Given the description of an element on the screen output the (x, y) to click on. 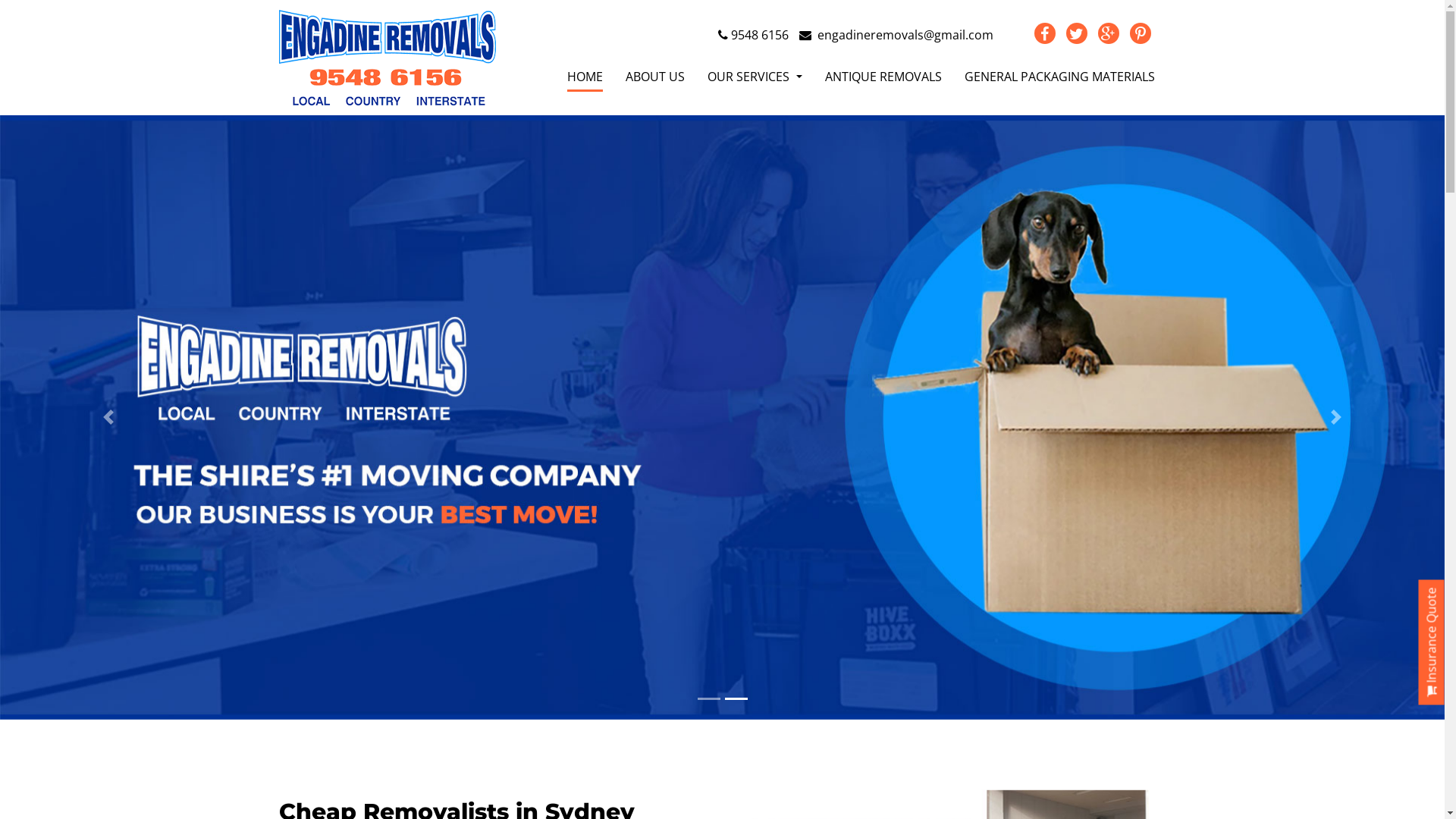
 9548 6156 Element type: text (752, 34)
HOME Element type: text (584, 76)
GENERAL PACKAGING MATERIALS Element type: text (1059, 76)
Next Element type: text (1335, 417)
OUR SERVICES Element type: text (754, 76)
ABOUT US Element type: text (654, 76)
 engadineremovals@gmail.com Element type: text (896, 34)
ANTIQUE REMOVALS Element type: text (883, 76)
Previous Element type: text (108, 417)
